Given the description of an element on the screen output the (x, y) to click on. 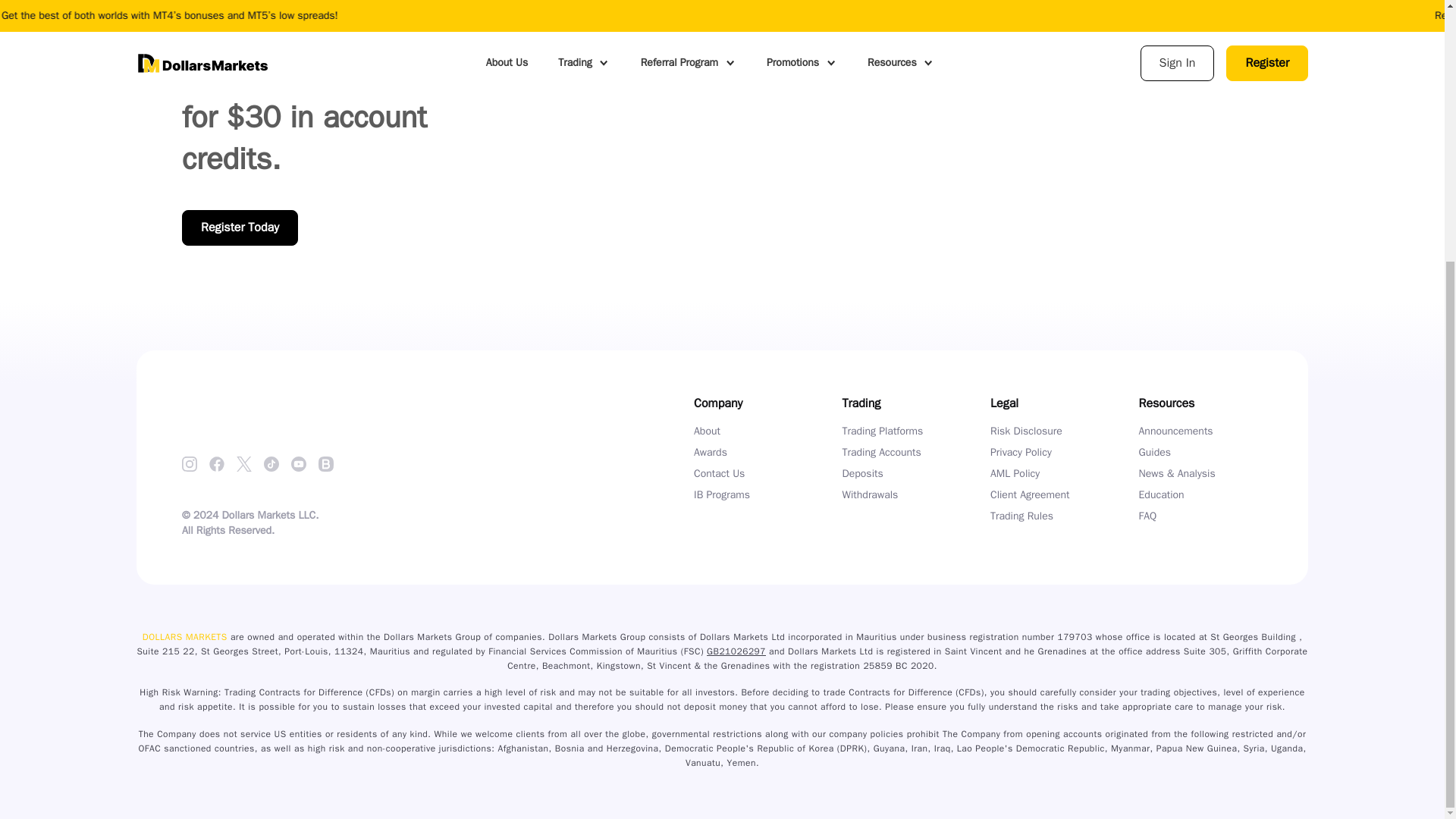
Trading Platforms (882, 431)
Awards (710, 452)
Trading Accounts (880, 452)
GB21026297 (735, 651)
AML Policy (1014, 473)
IB Programs (721, 494)
FAQ (1147, 516)
Privacy Policy (1020, 452)
Client Agreement (1030, 494)
Contact Us (719, 473)
